Given the description of an element on the screen output the (x, y) to click on. 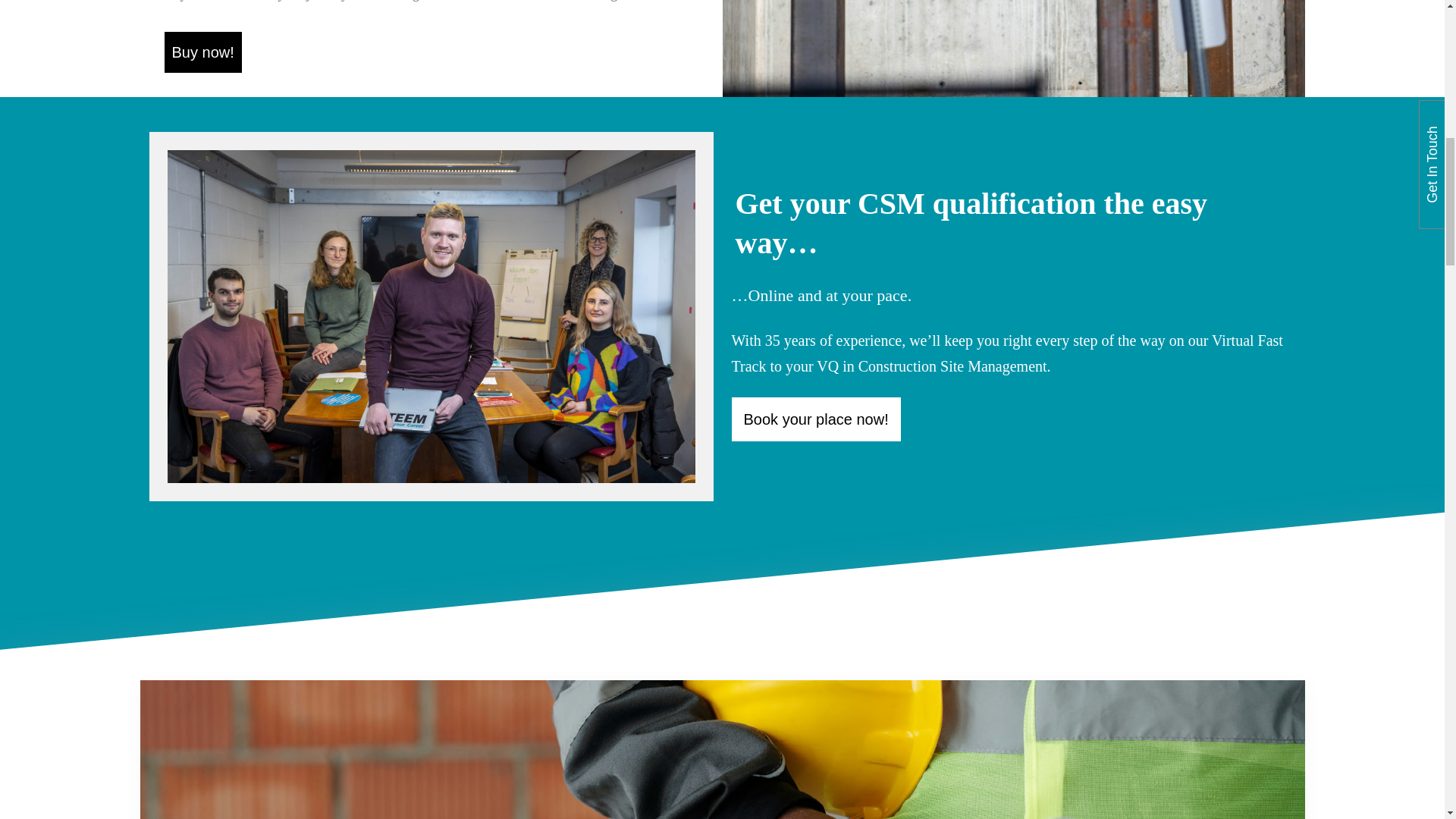
Buy now! (202, 51)
Book your place now! (814, 419)
